Given the description of an element on the screen output the (x, y) to click on. 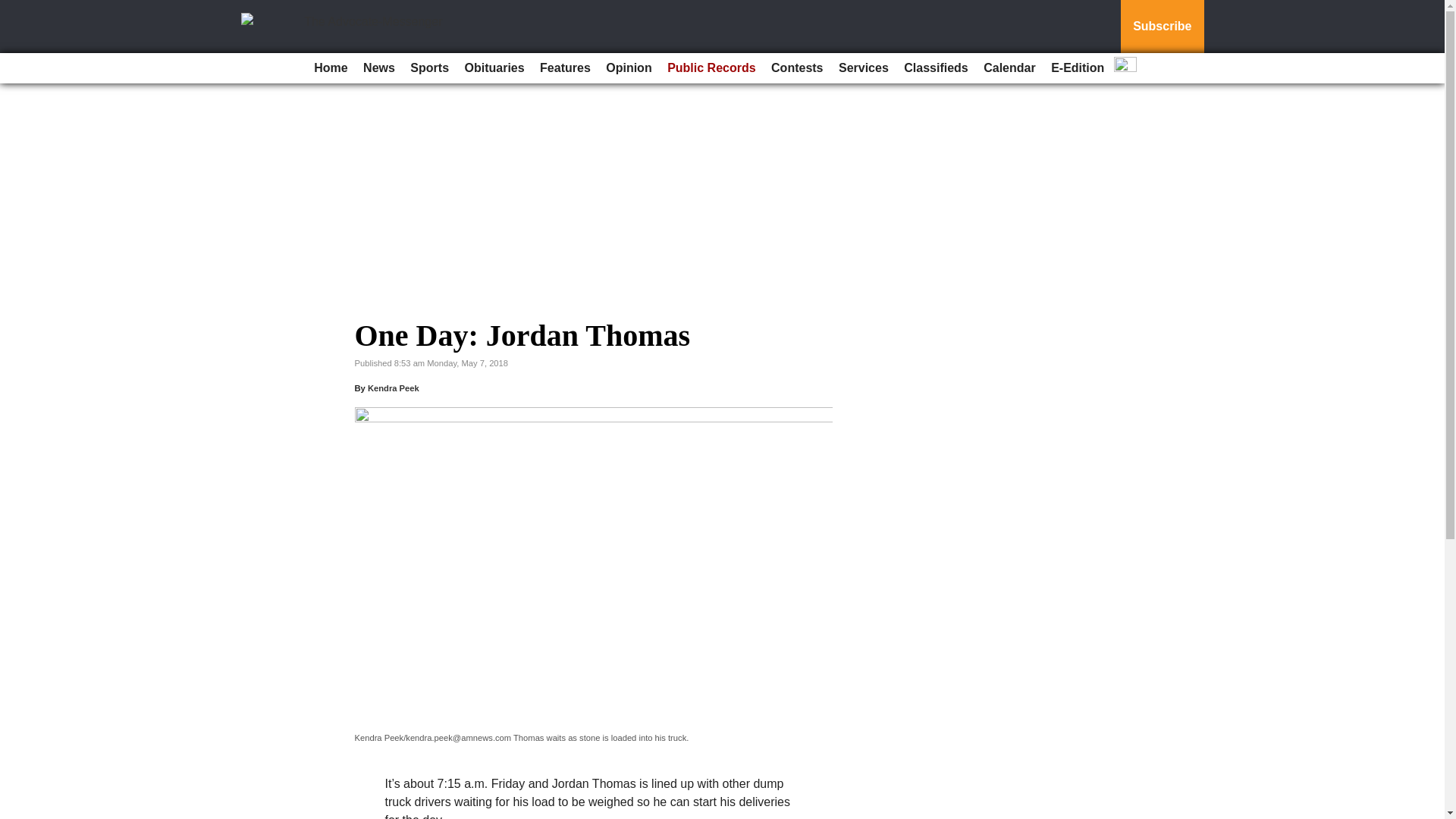
Public Records (711, 68)
News (378, 68)
Kendra Peek (393, 388)
Features (565, 68)
E-Edition (1077, 68)
Contests (796, 68)
Services (863, 68)
Opinion (628, 68)
Subscribe (1162, 26)
Calendar (1008, 68)
